Given the description of an element on the screen output the (x, y) to click on. 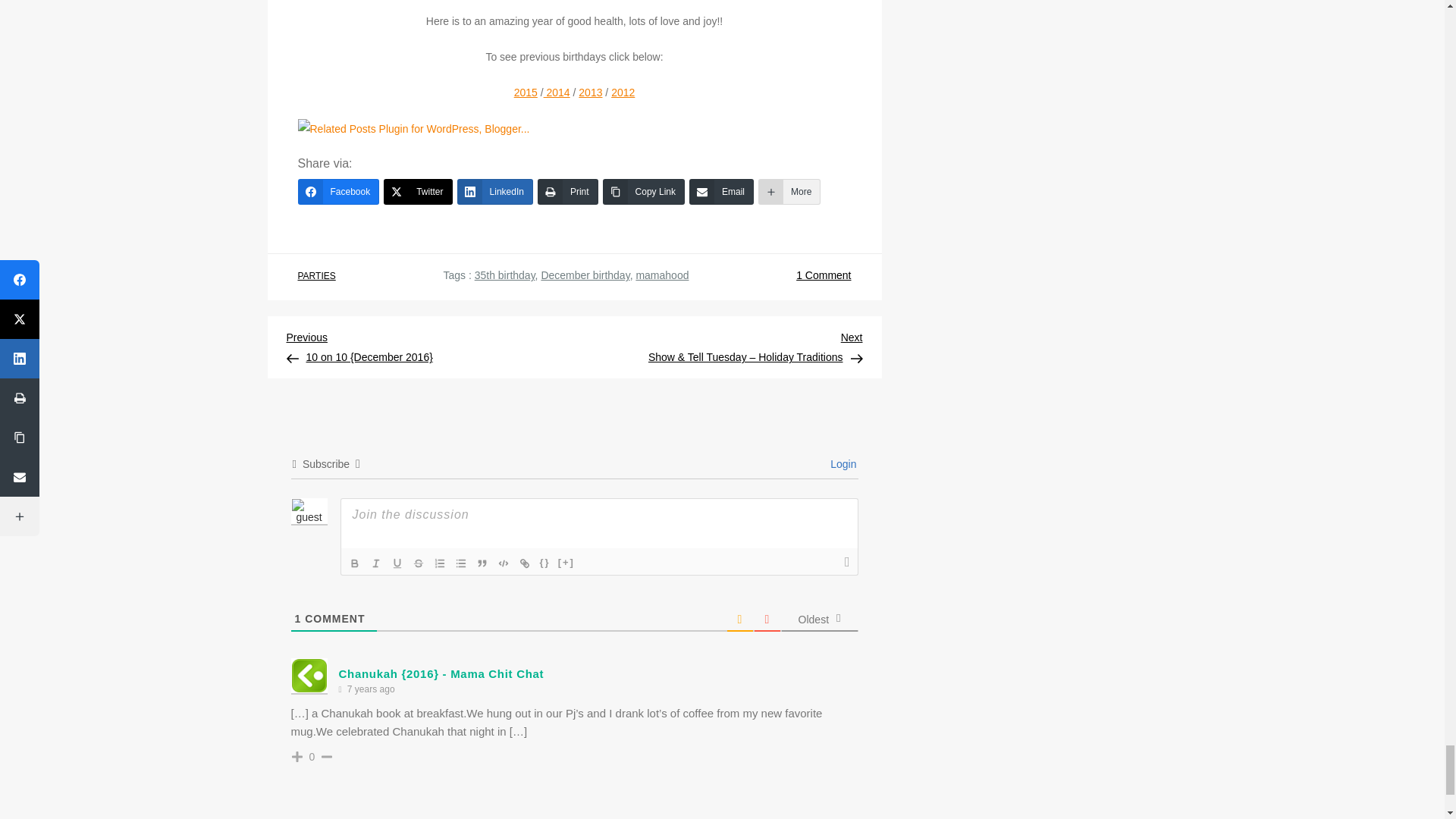
Twitter (417, 191)
35th birthday (504, 275)
Login (840, 463)
Facebook (337, 191)
Email (721, 191)
Print (567, 191)
Underline (397, 563)
2012 (622, 92)
LinkedIn (494, 191)
Code Block (503, 563)
